Given the description of an element on the screen output the (x, y) to click on. 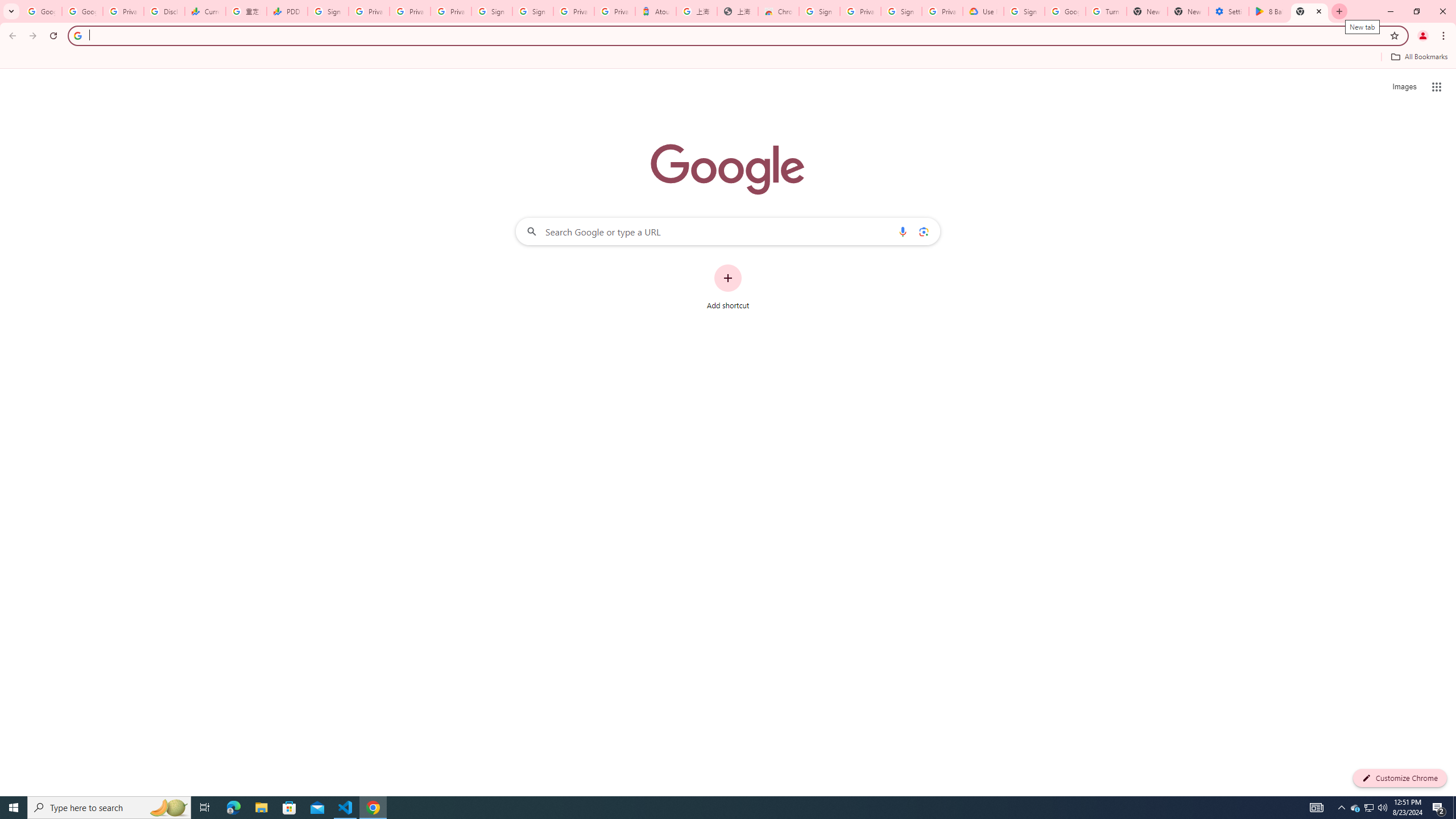
All Bookmarks (1418, 56)
PDD Holdings Inc - ADR (PDD) Price & News - Google Finance (287, 11)
Chrome Web Store - Color themes by Chrome (777, 11)
New Tab (1309, 11)
Search icon (77, 35)
Privacy Checkup (450, 11)
Google Workspace Admin Community (41, 11)
Turn cookies on or off - Computer - Google Account Help (1105, 11)
Sign in - Google Accounts (901, 11)
